Given the description of an element on the screen output the (x, y) to click on. 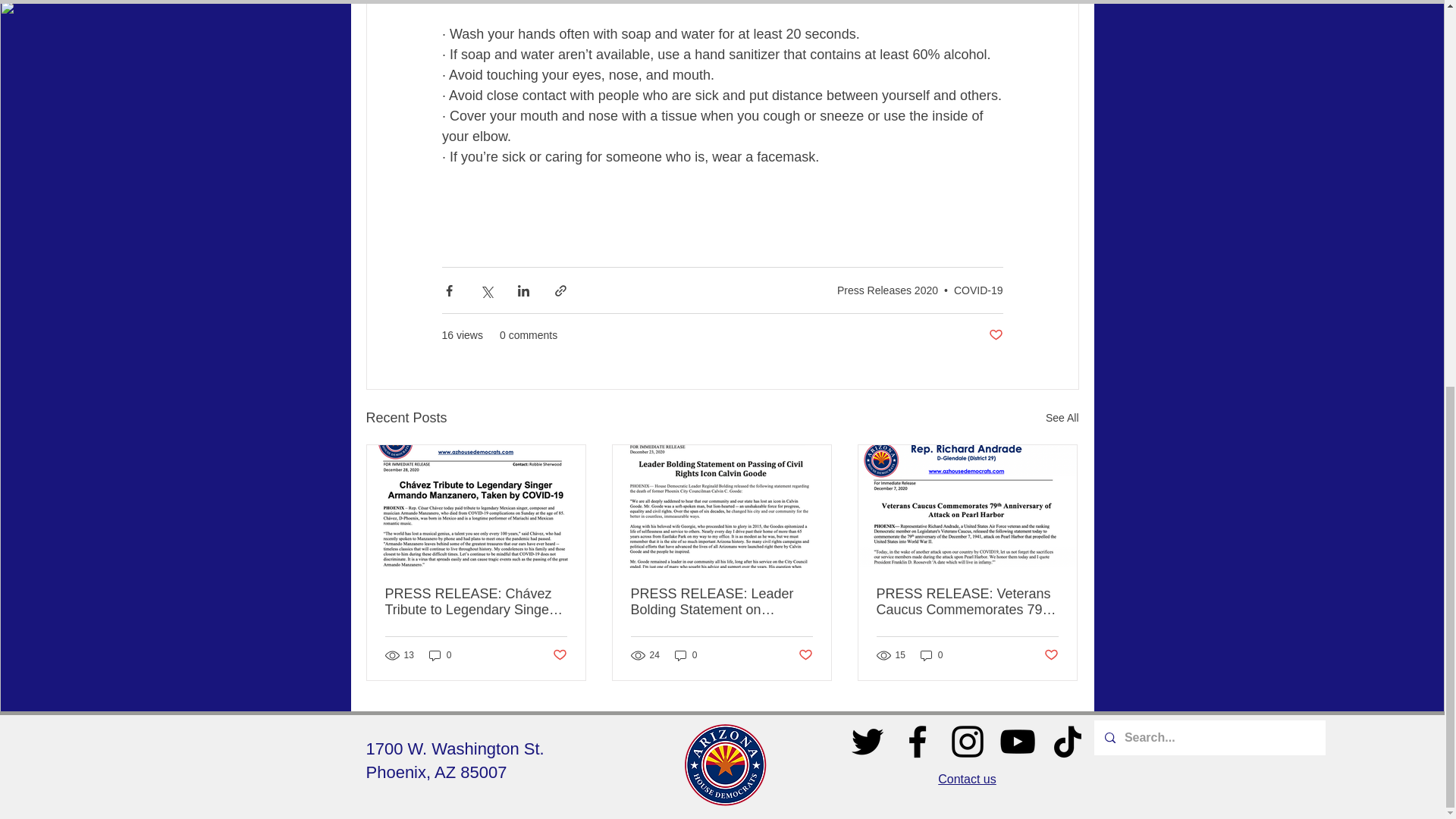
See All (1061, 418)
Post not marked as liked (558, 654)
Post not marked as liked (1050, 654)
Contact us (966, 779)
Post not marked as liked (995, 335)
0 (931, 655)
COVID-19 (978, 290)
0 (440, 655)
0 (685, 655)
